Given the description of an element on the screen output the (x, y) to click on. 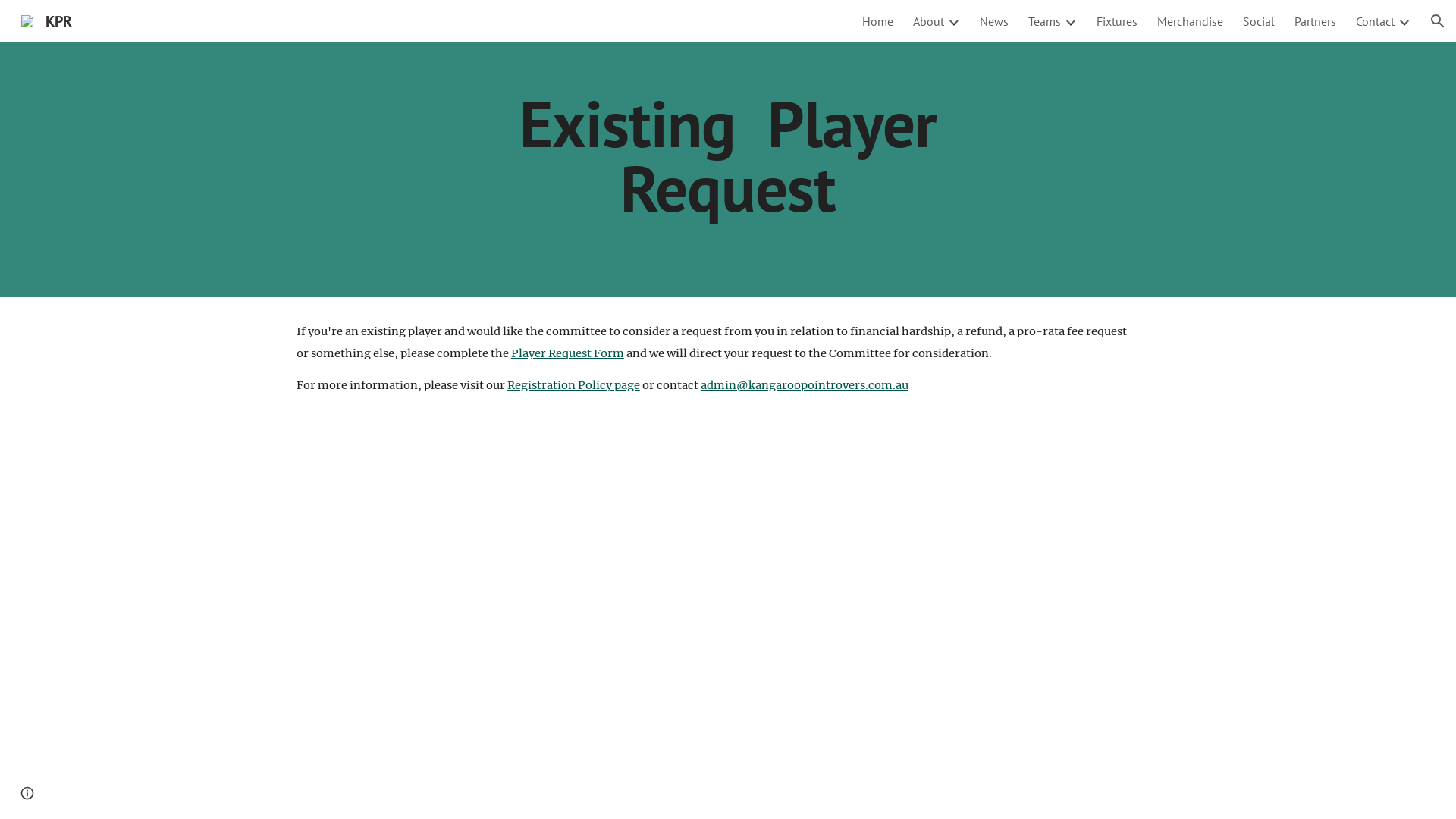
About Element type: text (928, 20)
admin@kangaroopointrovers.com.au Element type: text (804, 385)
Social Element type: text (1258, 20)
KPR Element type: text (46, 19)
Expand/Collapse Element type: hover (1069, 20)
Expand/Collapse Element type: hover (953, 20)
Registration Policy page Element type: text (573, 385)
Partners Element type: text (1315, 20)
Teams Element type: text (1044, 20)
Expand/Collapse Element type: hover (1403, 20)
Fixtures Element type: text (1116, 20)
Player Request Form Element type: text (567, 353)
Contact Element type: text (1374, 20)
News Element type: text (993, 20)
Home Element type: text (877, 20)
Merchandise Element type: text (1190, 20)
